Given the description of an element on the screen output the (x, y) to click on. 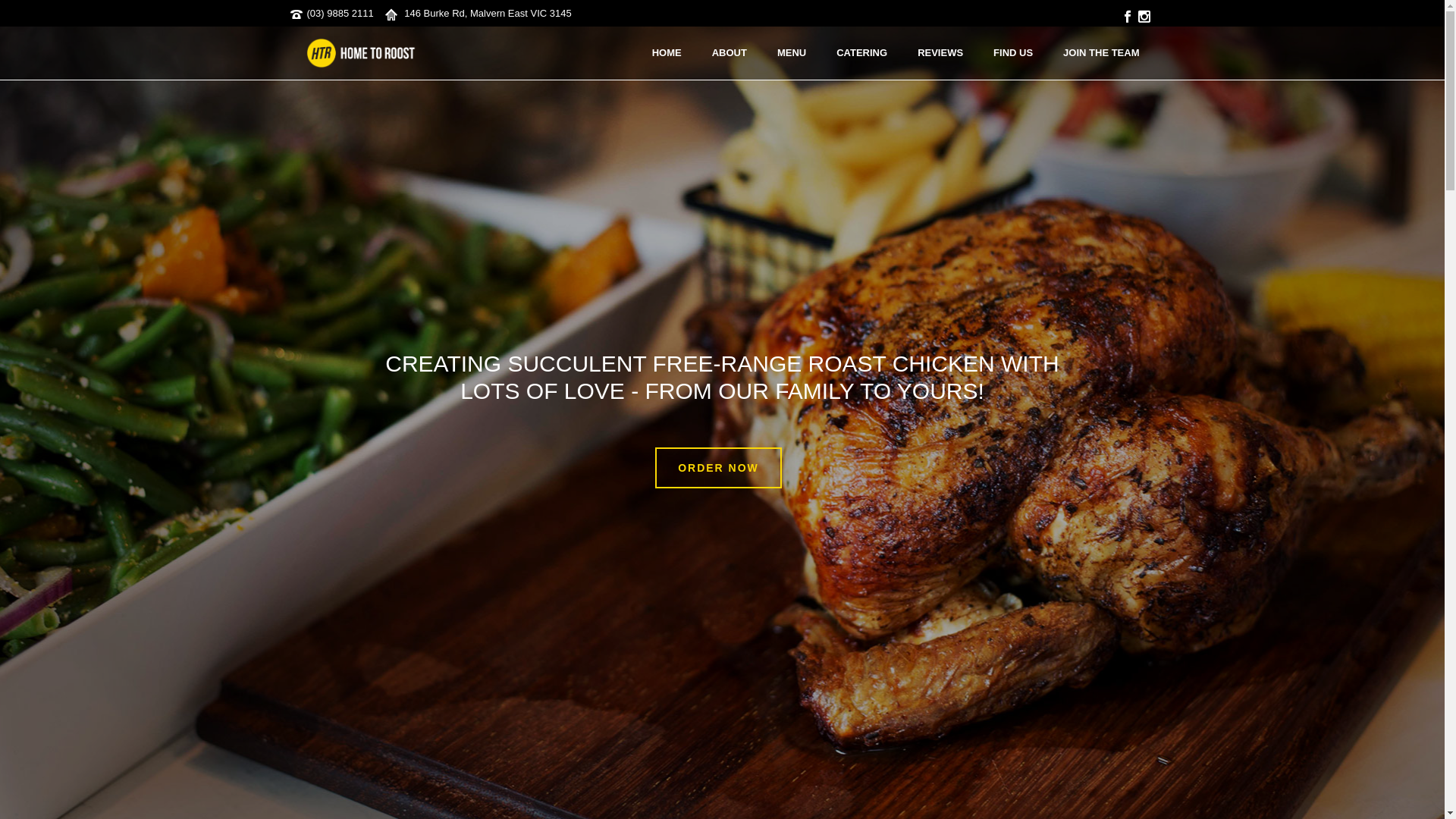
ABOUT Element type: text (729, 53)
instagram Element type: hover (1143, 17)
facebook Element type: hover (1126, 17)
CATERING Element type: text (861, 53)
MENU Element type: text (791, 53)
HOME Element type: text (666, 53)
REVIEWS Element type: text (940, 53)
ORDER NOW Element type: text (718, 467)
JOIN THE TEAM Element type: text (1101, 53)
FIND US Element type: text (1013, 53)
